Given the description of an element on the screen output the (x, y) to click on. 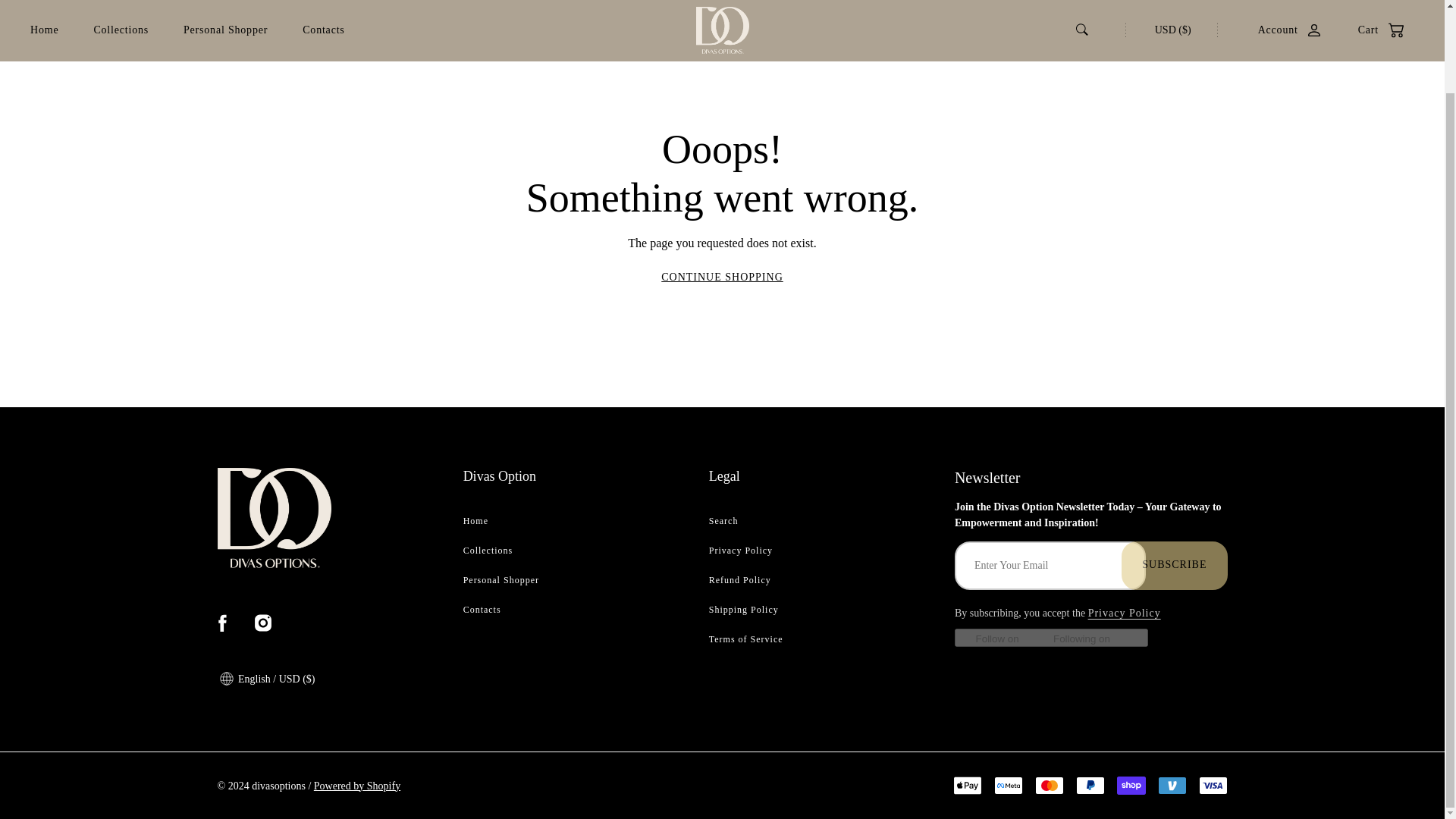
Contacts (322, 1)
Personal Shopper (225, 1)
Home (44, 1)
Collections (120, 1)
Shopify online store chat (1383, 687)
CONTINUE SHOPPING (722, 276)
